Given the description of an element on the screen output the (x, y) to click on. 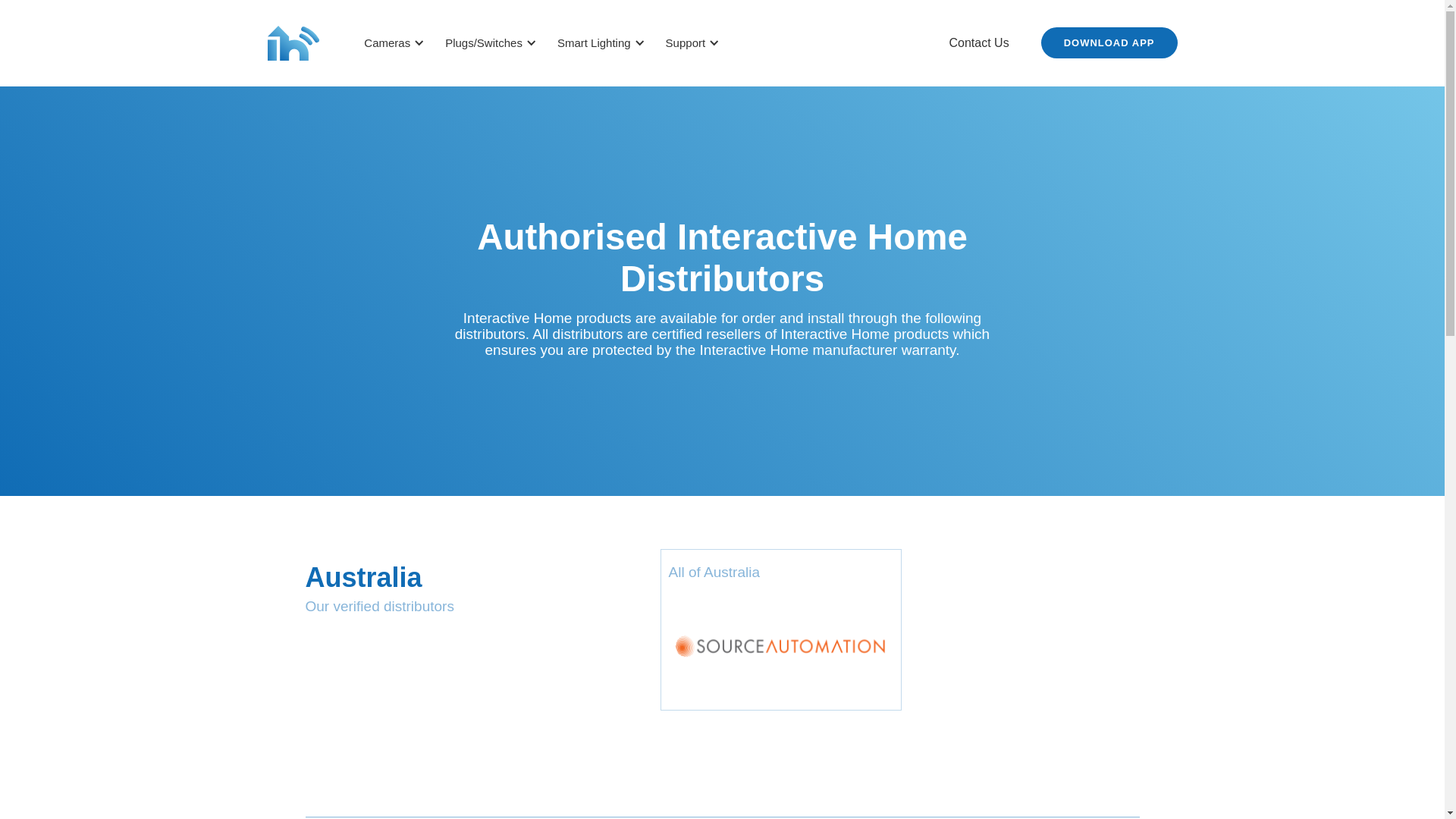
All of Australia Element type: text (780, 629)
Contact Us Element type: text (979, 42)
DOWNLOAD APP Element type: text (1109, 42)
